Given the description of an element on the screen output the (x, y) to click on. 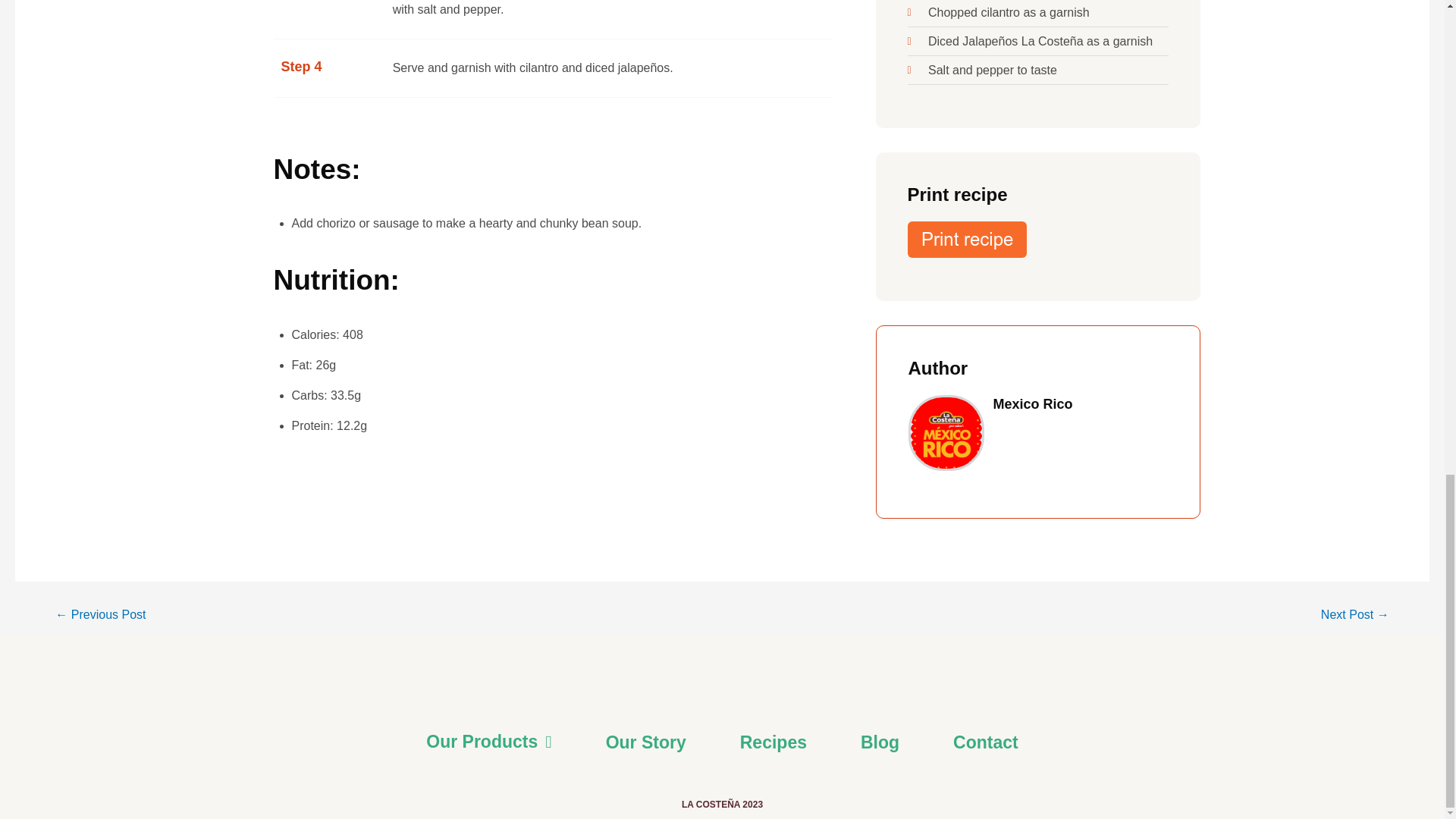
Our Story (646, 742)
Our Products (488, 741)
Contact (985, 742)
Blog (879, 742)
Recipes (773, 742)
